Given the description of an element on the screen output the (x, y) to click on. 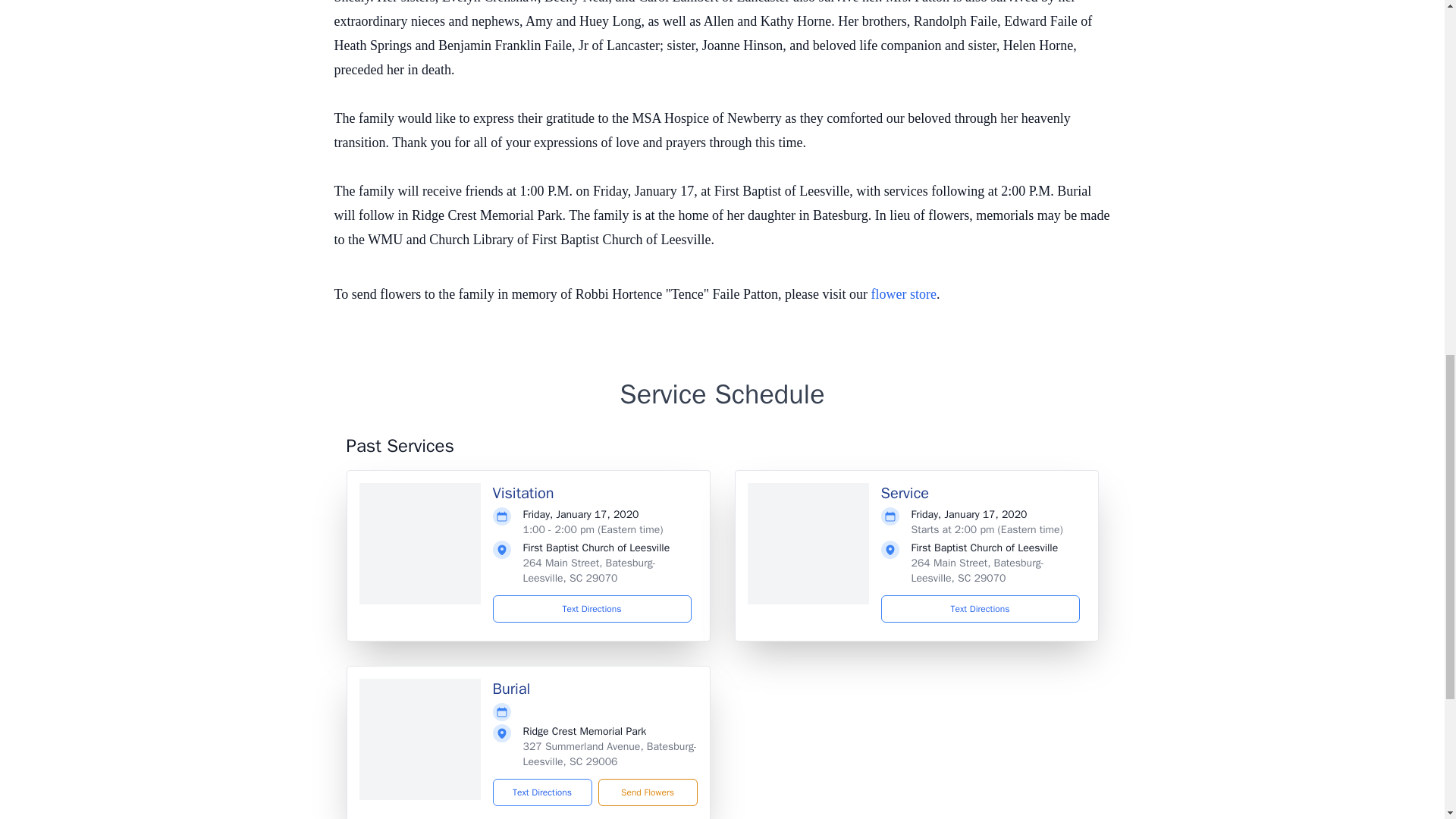
264 Main Street, Batesburg-Leesville, SC 29070 (589, 570)
Text Directions (980, 608)
264 Main Street, Batesburg-Leesville, SC 29070 (977, 570)
Text Directions (592, 608)
flower store (903, 294)
327 Summerland Avenue, Batesburg-Leesville, SC 29006 (609, 754)
Text Directions (542, 791)
Send Flowers (646, 791)
